Given the description of an element on the screen output the (x, y) to click on. 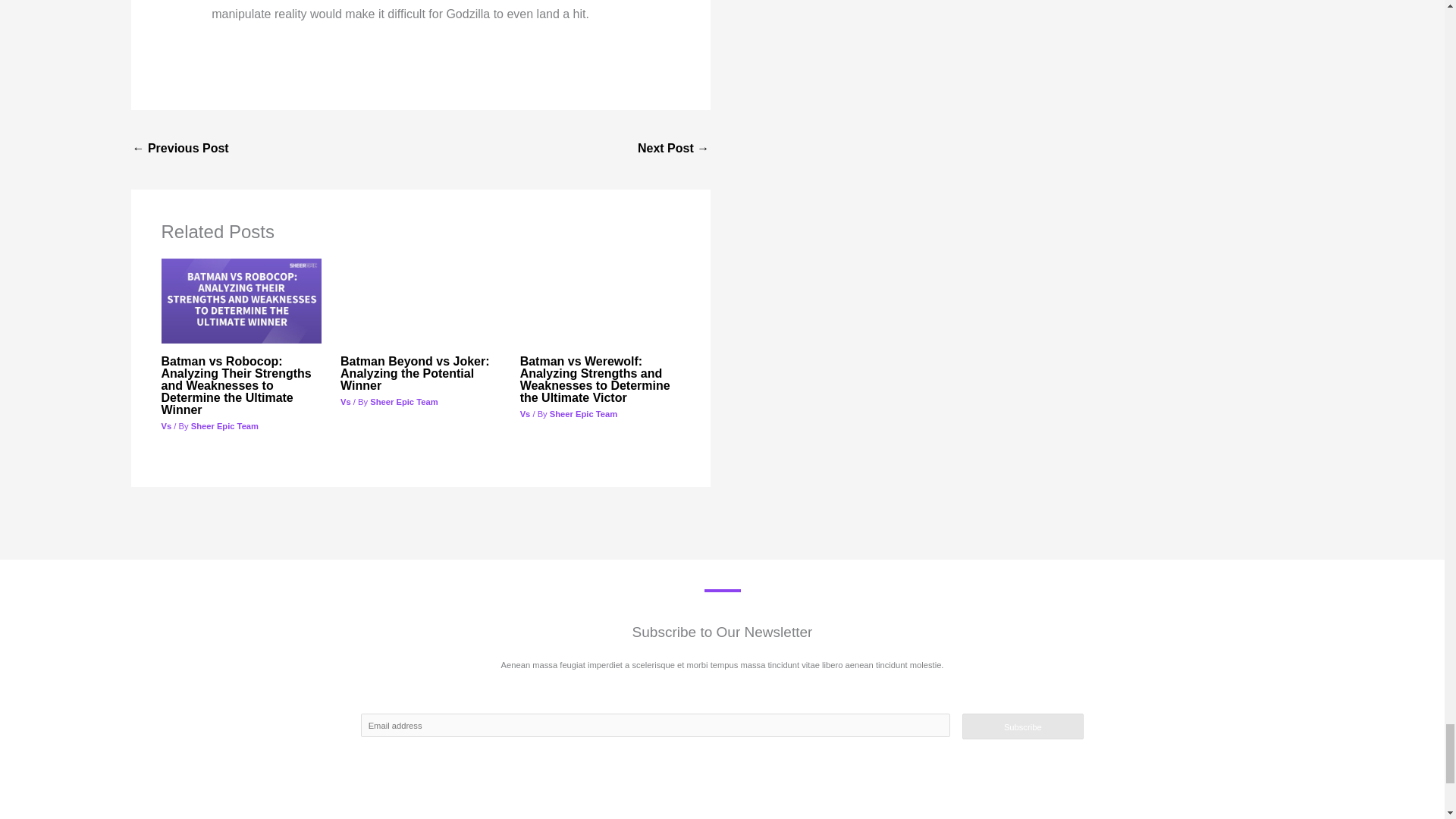
Vs (165, 425)
Godzilla vs Monster X: A Battle of the Titans (673, 149)
Godzilla vs Gryphon: Analyzing Who Would Come Out on Top (180, 149)
Vs (345, 401)
Batman Beyond vs Joker: Analyzing the Potential Winner (414, 373)
Sheer Epic Team (403, 401)
Sheer Epic Team (583, 413)
Sheer Epic Team (224, 425)
Vs (525, 413)
View all posts by Sheer Epic Team (583, 413)
View all posts by Sheer Epic Team (403, 401)
View all posts by Sheer Epic Team (224, 425)
